Given the description of an element on the screen output the (x, y) to click on. 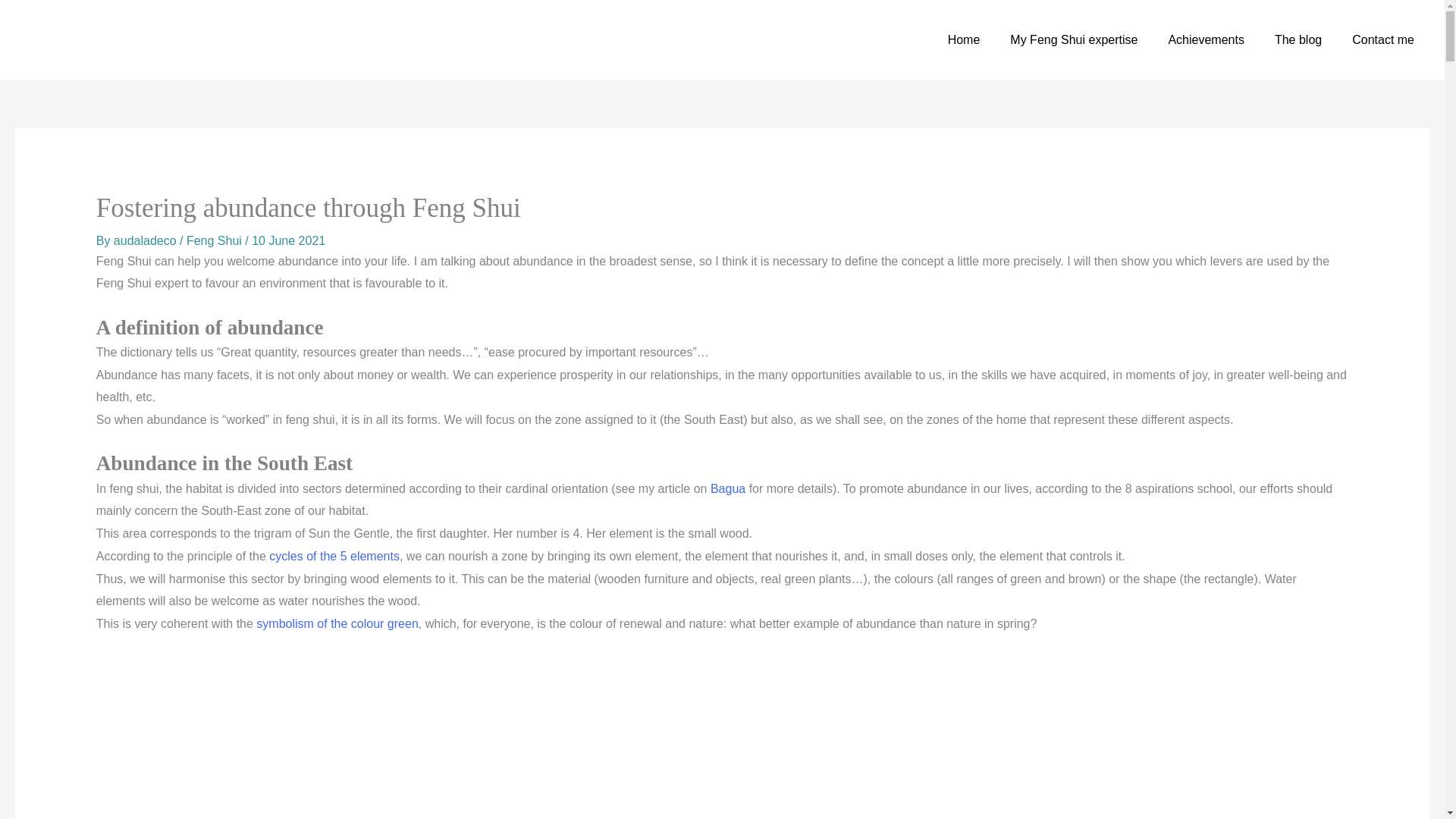
Achievements (1206, 39)
cycles of the 5 elements (333, 555)
The blog (1297, 39)
View all posts by audaladeco (146, 240)
My Feng Shui expertise (1073, 39)
audaladeco (146, 240)
Contact me (1382, 39)
Bagua (727, 488)
symbolism of the colour green (336, 623)
Feng Shui (213, 240)
